Given the description of an element on the screen output the (x, y) to click on. 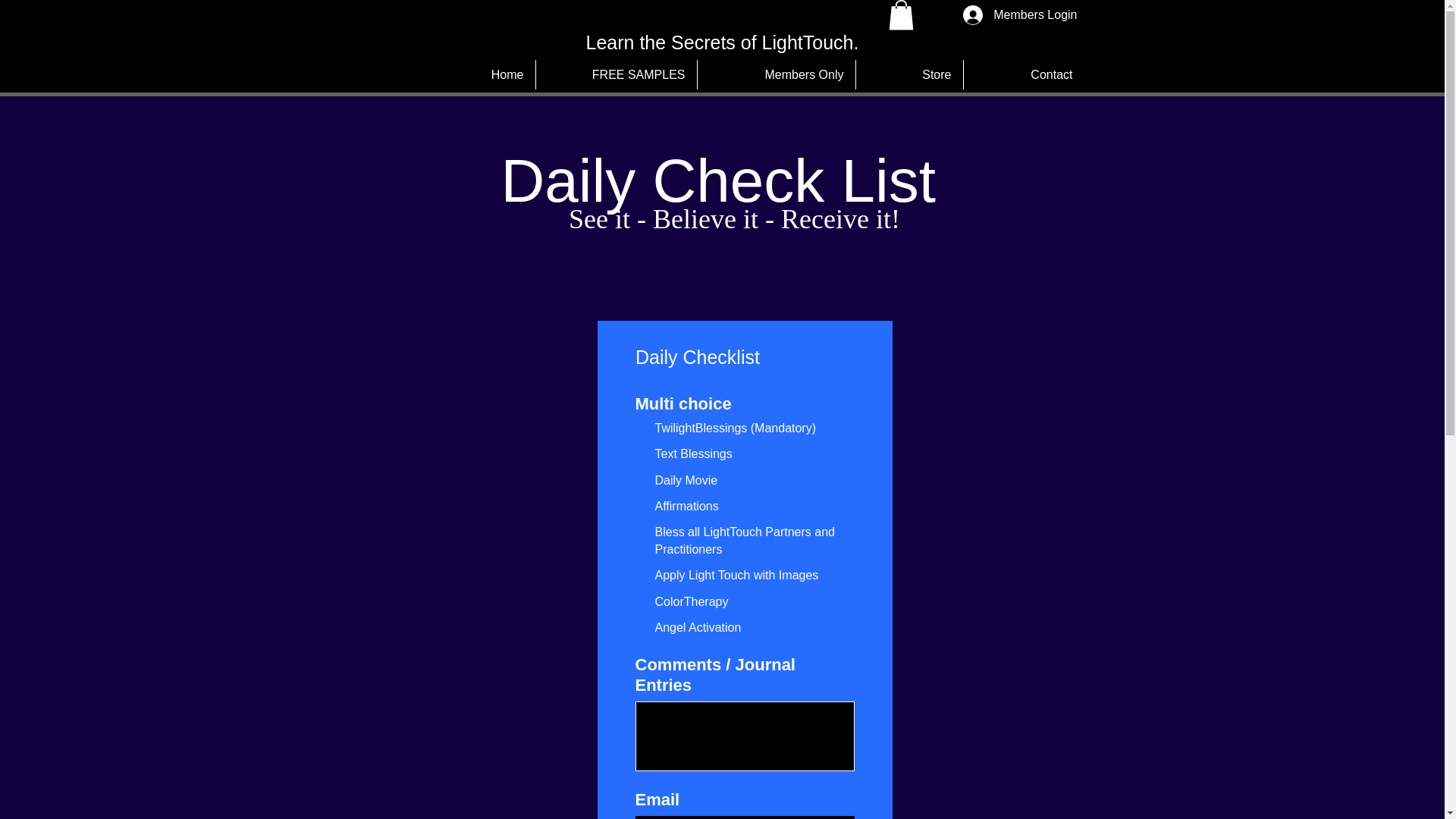
Members Login (1019, 14)
Contact (1023, 74)
Home (479, 74)
Learn the Secrets of LightTouch. (722, 42)
Store (909, 74)
